Given the description of an element on the screen output the (x, y) to click on. 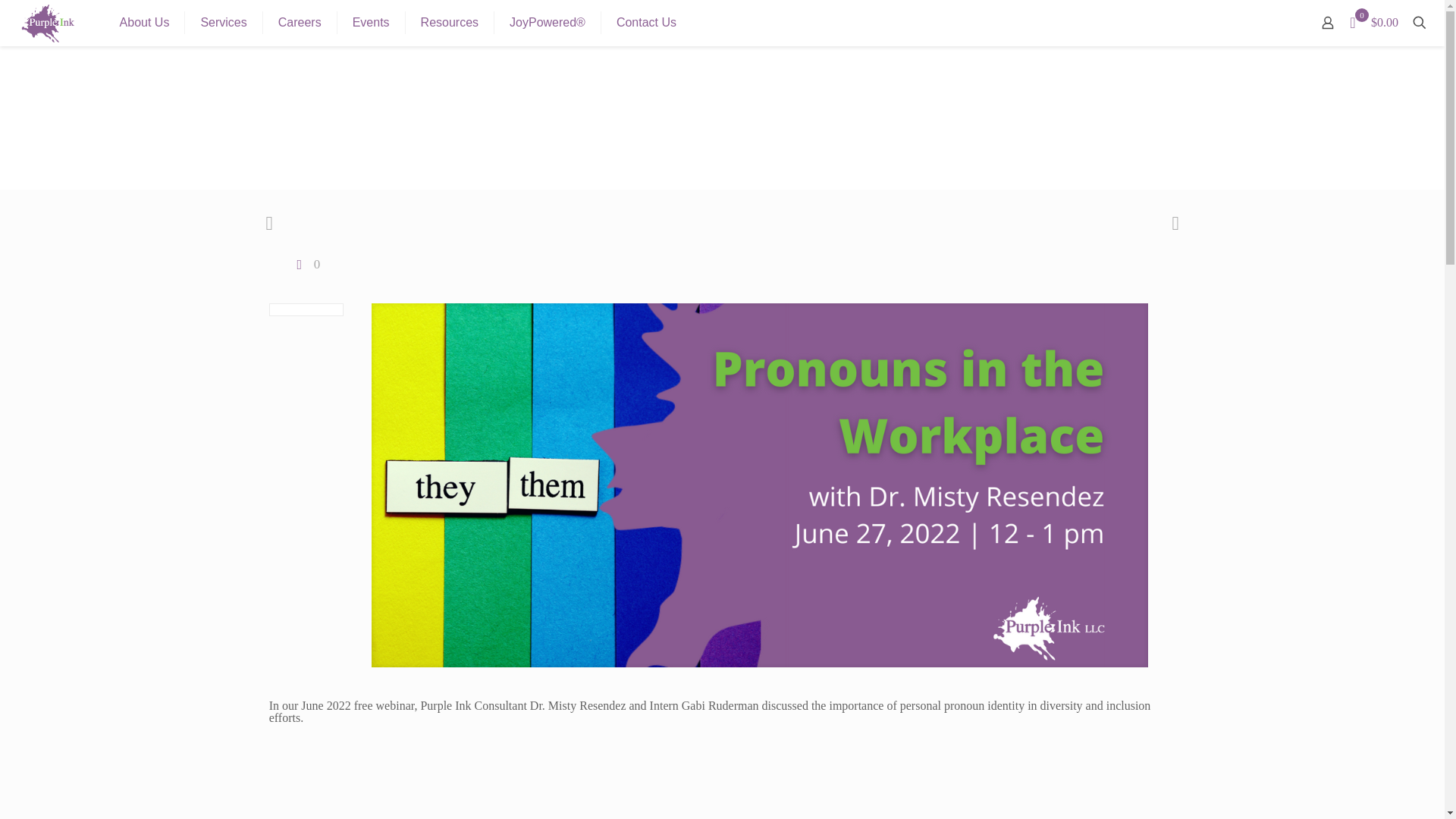
Contact Us (646, 22)
Events (371, 22)
Pronouns in the Workplace Webinar (722, 777)
0 (306, 264)
Services (223, 22)
About Us (145, 22)
Careers (300, 22)
Resources (450, 22)
